Given the description of an element on the screen output the (x, y) to click on. 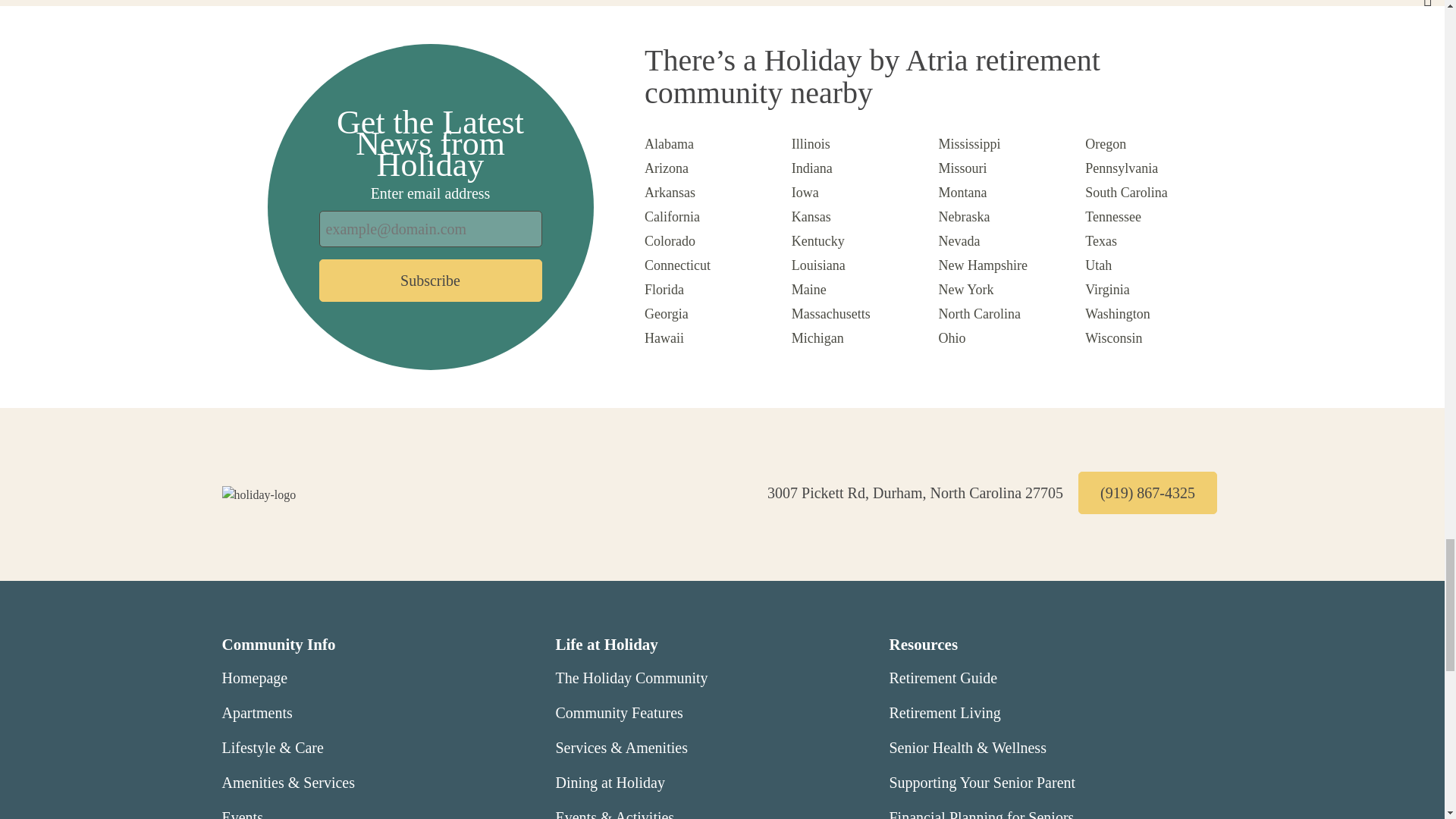
Iowa (805, 192)
Illinois (810, 143)
Hawaii (664, 337)
Florida (664, 289)
Georgia (666, 313)
California (672, 216)
Arkansas (670, 192)
Maine (809, 289)
Kentucky (818, 240)
Louisiana (818, 264)
